Given the description of an element on the screen output the (x, y) to click on. 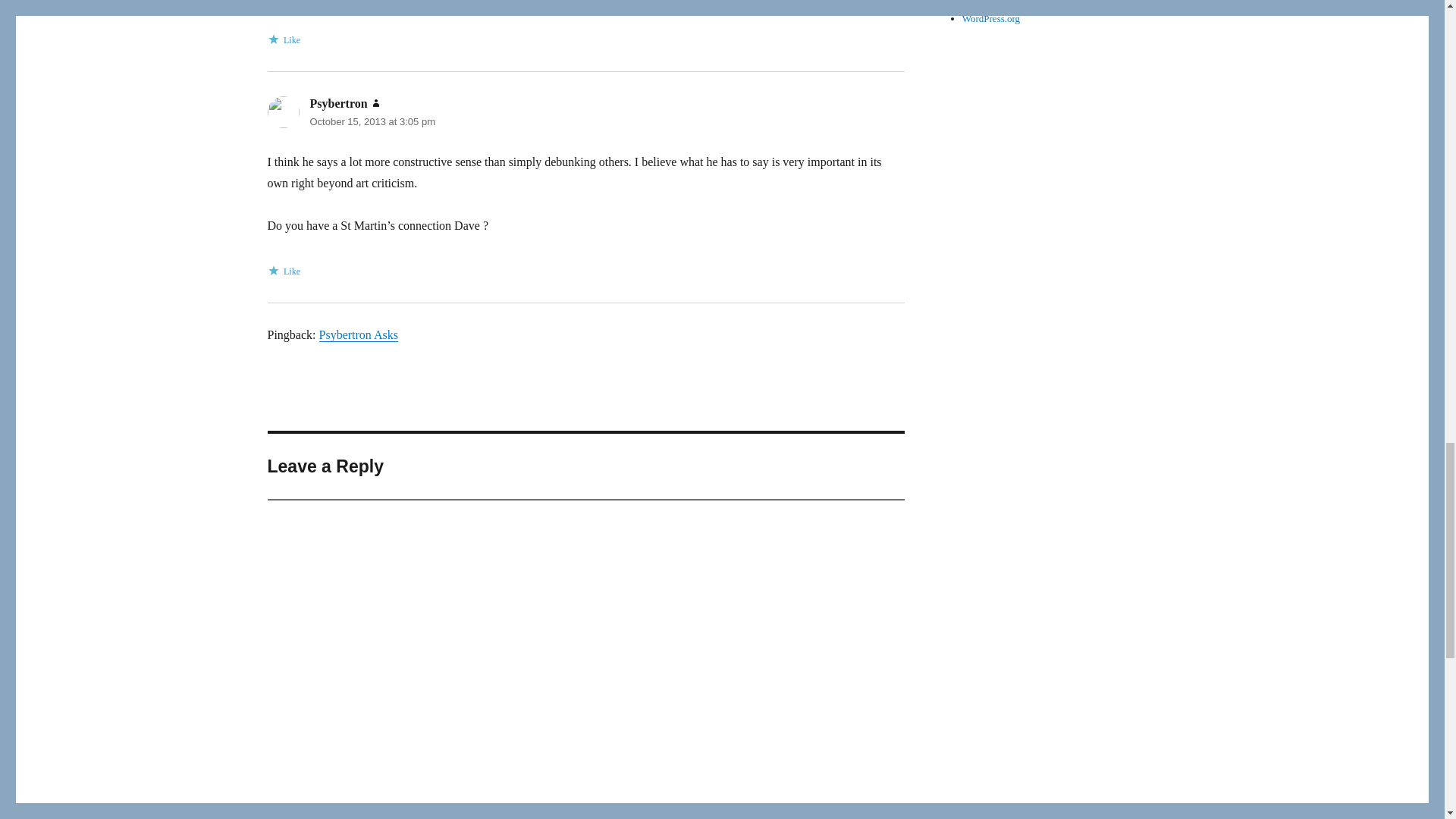
October 15, 2013 at 3:05 pm (371, 121)
Psybertron Asks (357, 334)
